Given the description of an element on the screen output the (x, y) to click on. 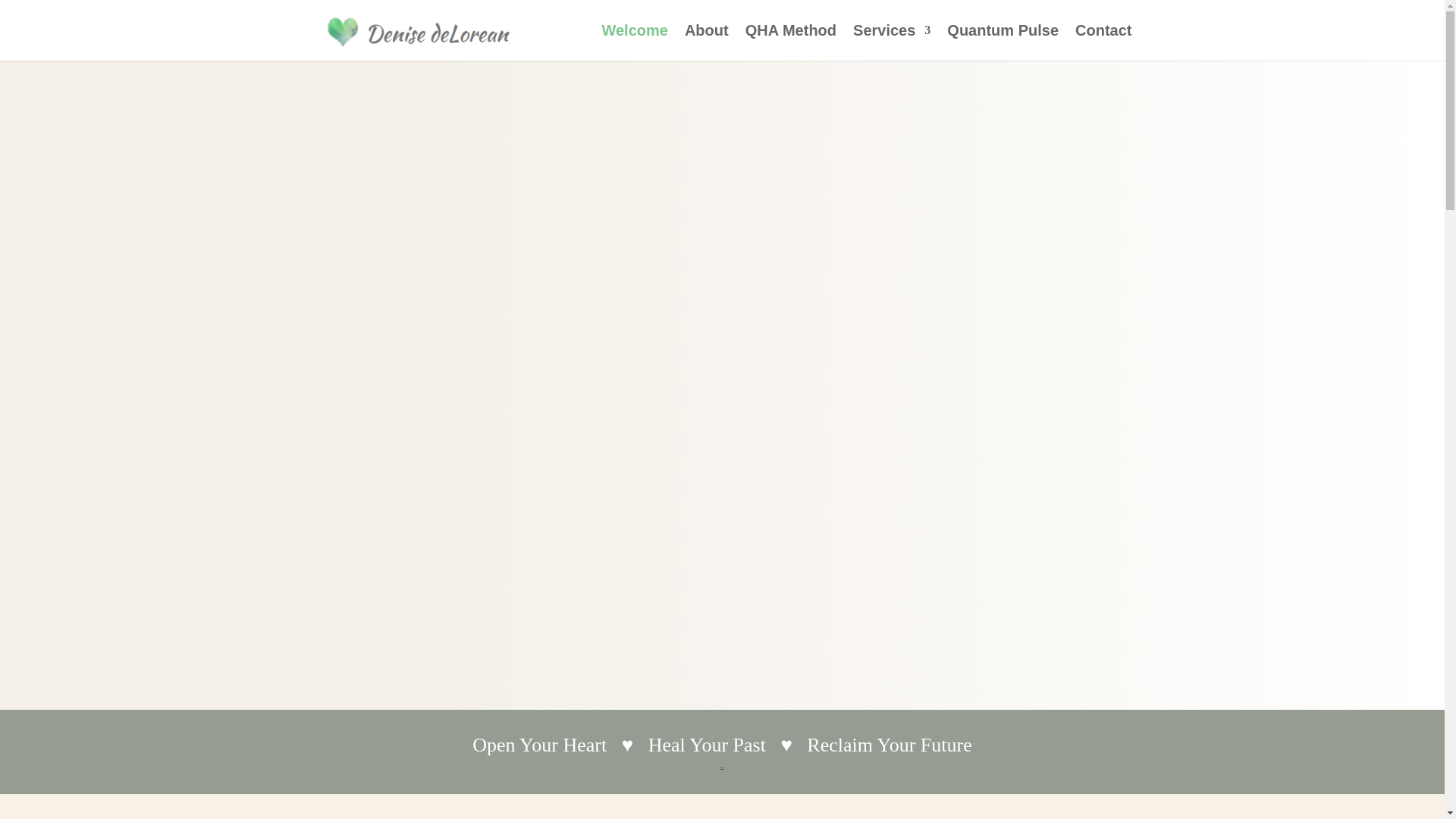
About (706, 42)
QHA Method (790, 42)
Contact (1103, 42)
Services (891, 42)
Quantum Pulse (1002, 42)
Welcome (633, 42)
